Given the description of an element on the screen output the (x, y) to click on. 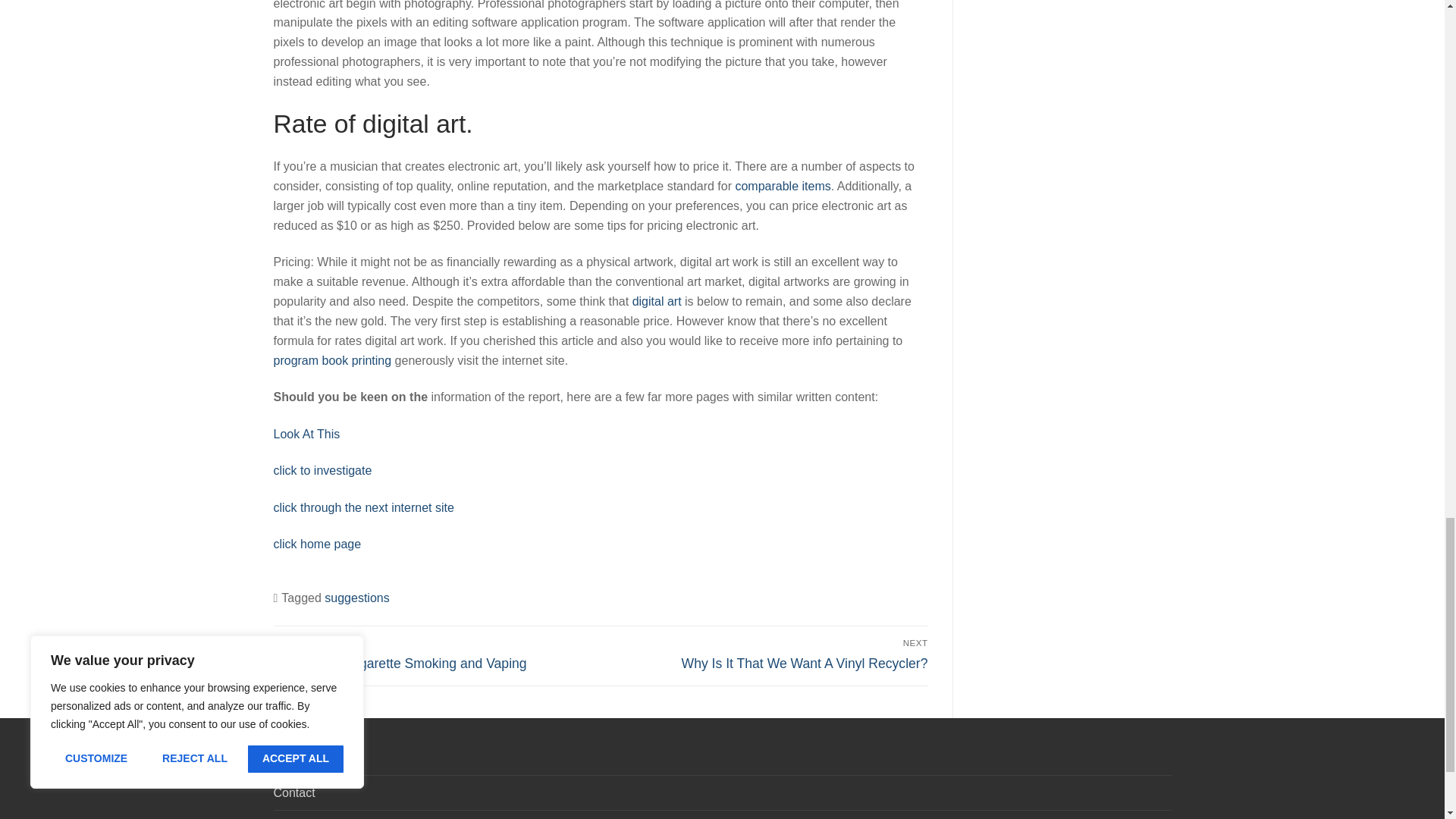
suggestions (356, 597)
Look At This (767, 654)
comparable items (306, 433)
click home page (782, 185)
click through the next internet site (317, 543)
digital art (362, 507)
click to investigate (656, 300)
program book printing (322, 470)
